Given the description of an element on the screen output the (x, y) to click on. 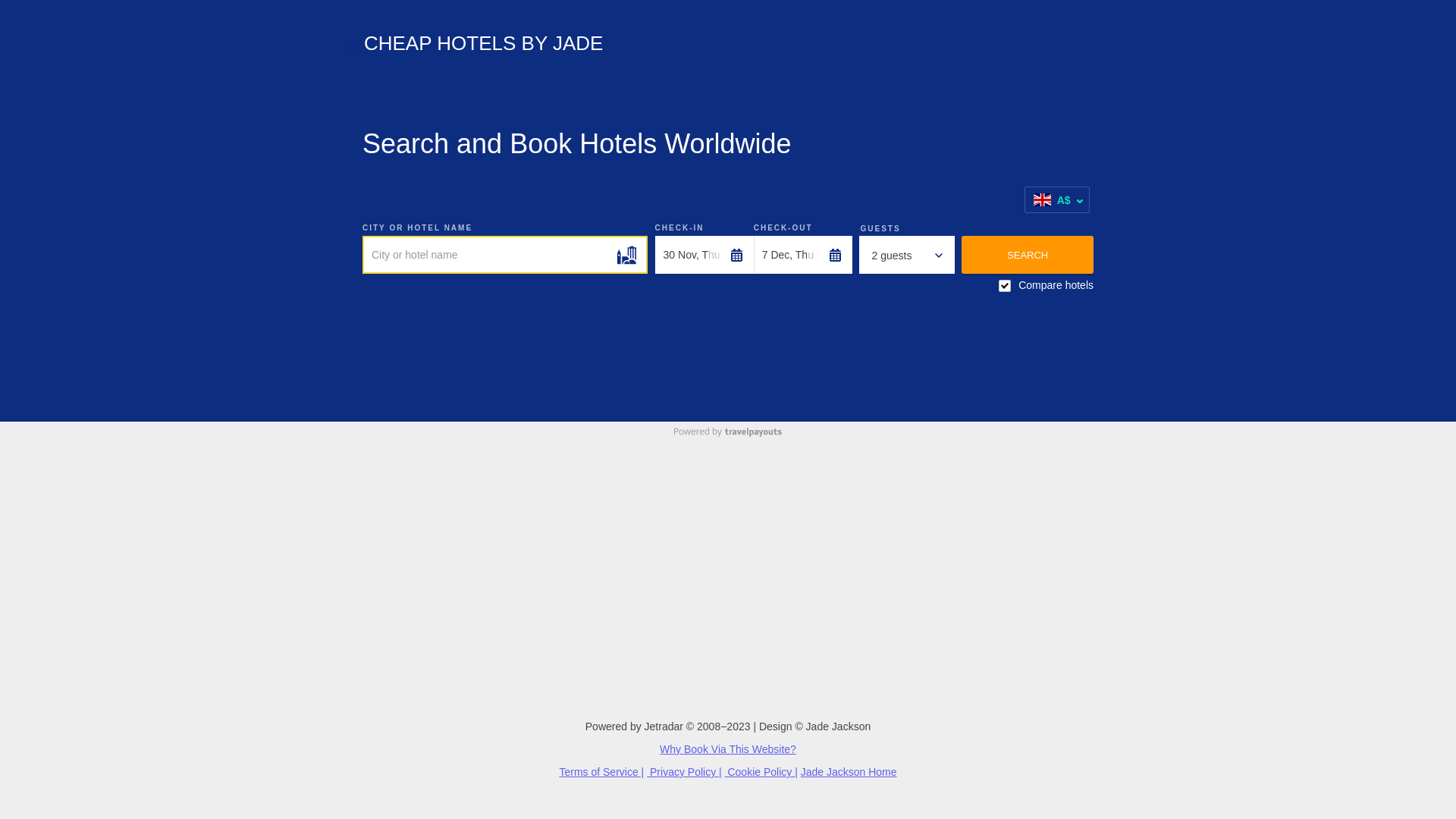
Terms of Service | Element type: text (600, 771)
Jade Jackson Home Element type: text (848, 771)
Privacy Policy | Element type: text (683, 771)
Why Book Via This Website? Element type: text (727, 749)
Cookie Policy | Element type: text (760, 771)
SEARCH Element type: text (1027, 254)
" Element type: text (352, 46)
